Given the description of an element on the screen output the (x, y) to click on. 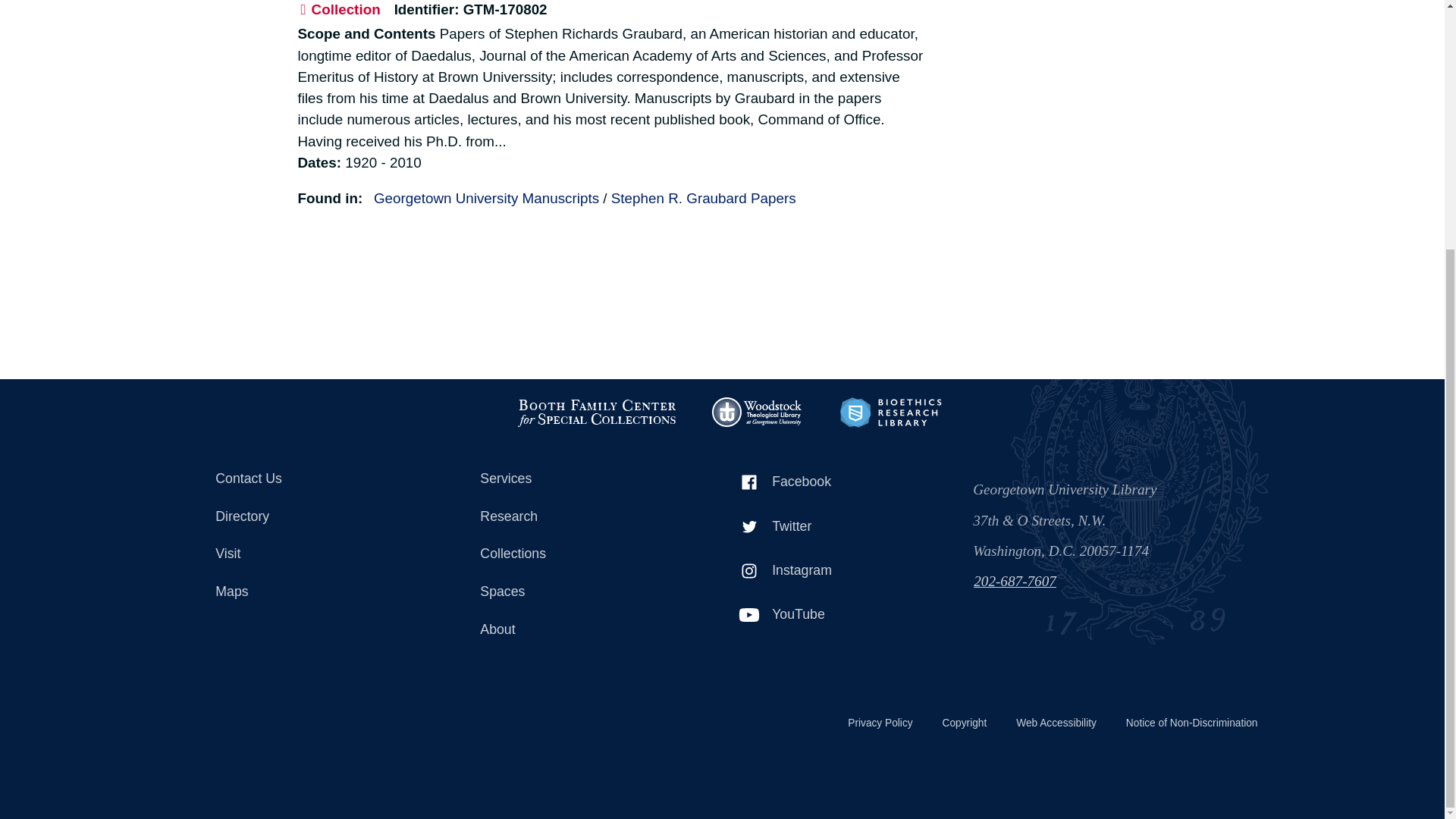
Maps (319, 591)
Visit (319, 554)
Spaces (580, 591)
Privacy Policy (879, 723)
Georgetown University Manuscripts (486, 198)
Research (580, 516)
Services (580, 478)
Woodstock Theological Library at Georgetown University (758, 411)
Instagram (838, 570)
Twitter (838, 525)
About (580, 629)
Stephen R. Graubard Papers (703, 198)
202-687-7607 (1086, 583)
Web Accessibility (1054, 723)
Copyright (963, 723)
